Given the description of an element on the screen output the (x, y) to click on. 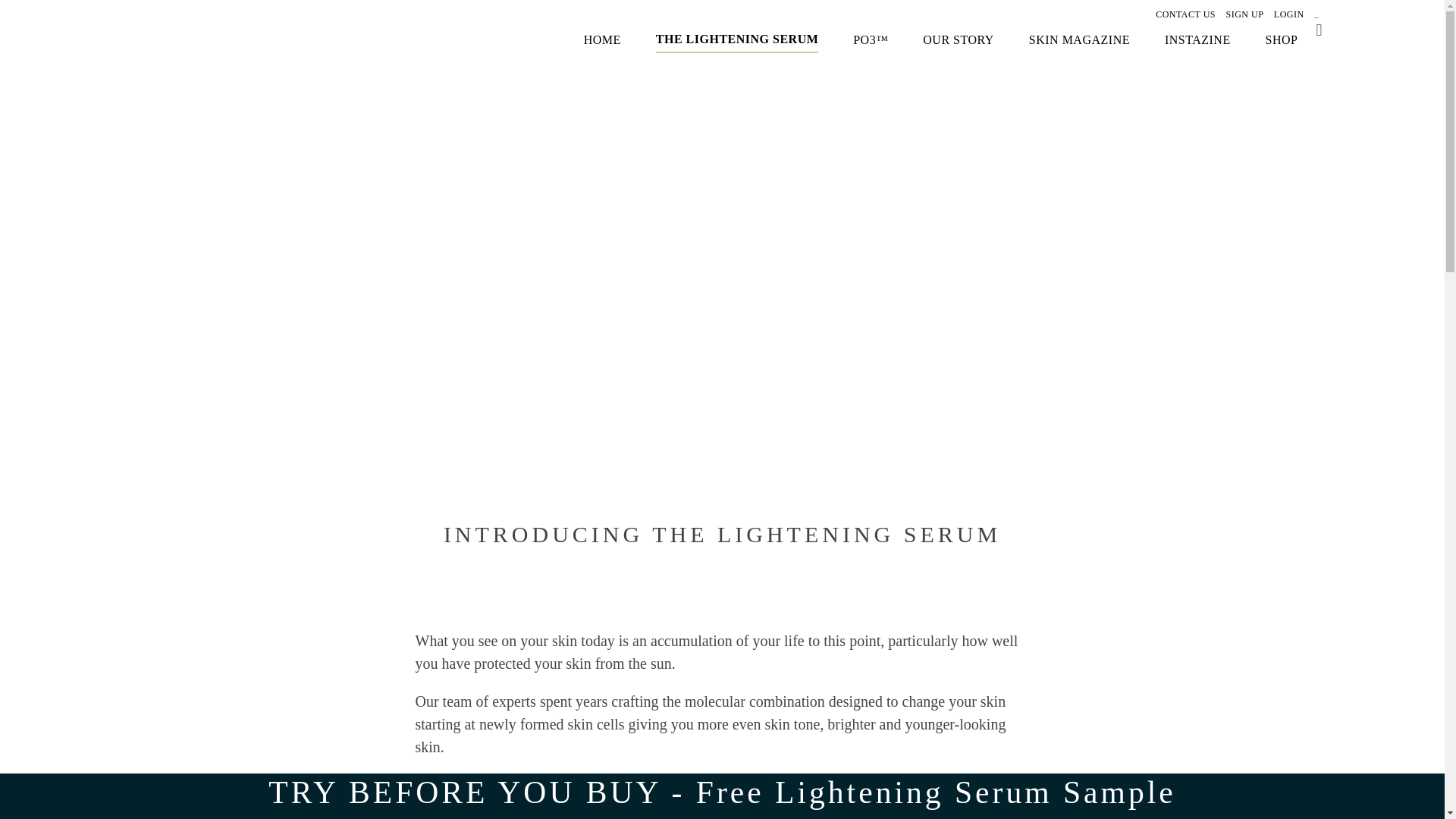
SKIN MAGAZINE (1079, 39)
TRY BEFORE YOU BUY - Free Lightening Serum Sample (720, 791)
CONTACT US (1185, 14)
THE LIGHTENING SERUM (737, 39)
INSTAZINE (1197, 39)
SIGN UP (1244, 14)
LOGIN (1289, 14)
OUR STORY (958, 39)
